Given the description of an element on the screen output the (x, y) to click on. 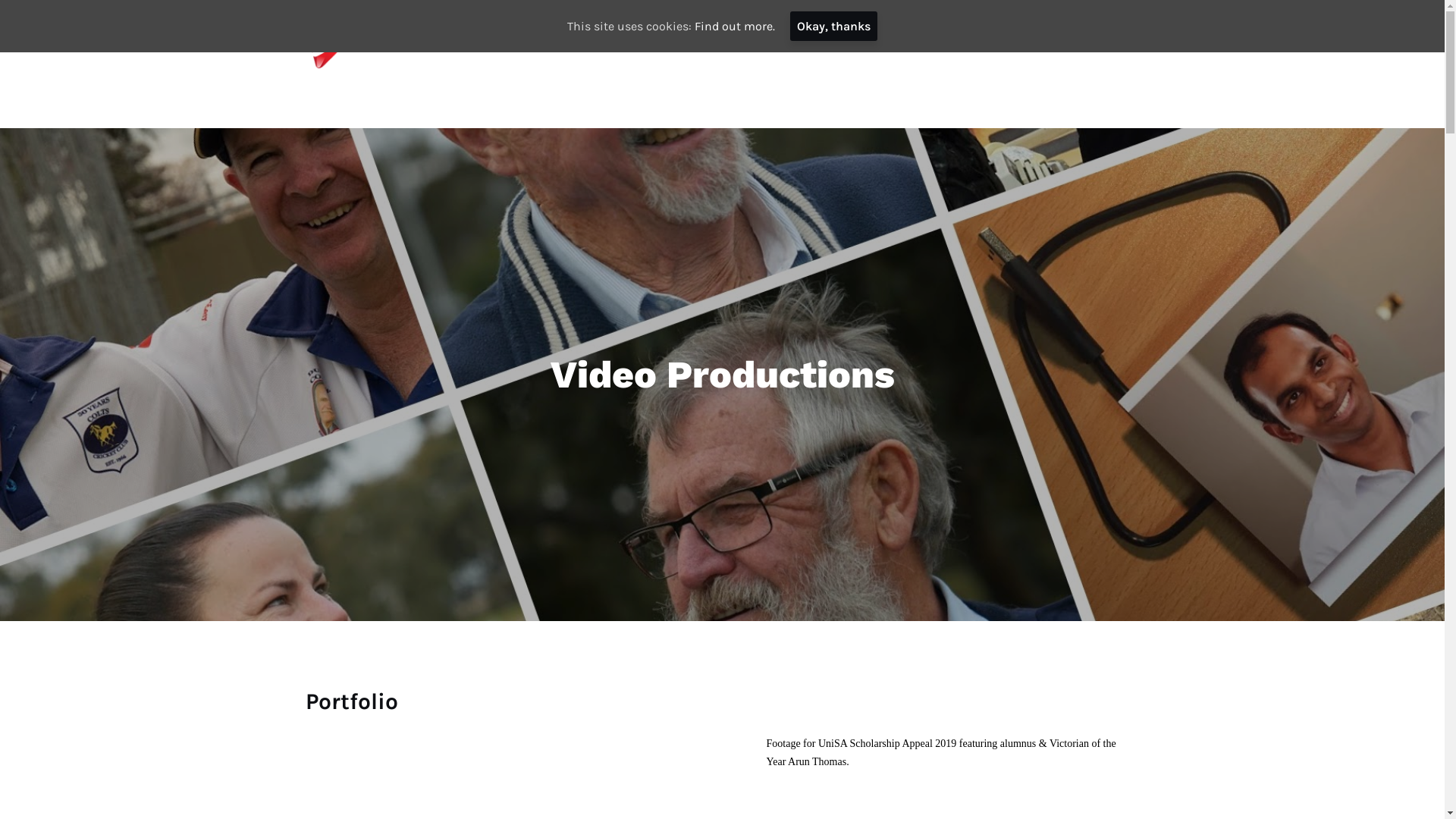
Search Element type: text (15, 15)
Okay, thanks Element type: text (833, 25)
Video Productions Element type: text (1033, 38)
Home Element type: text (520, 38)
About Us Element type: text (1168, 38)
Find out more. Element type: text (734, 25)
Social Media Management Element type: text (659, 38)
Web & Content Editing Element type: text (856, 38)
